Given the description of an element on the screen output the (x, y) to click on. 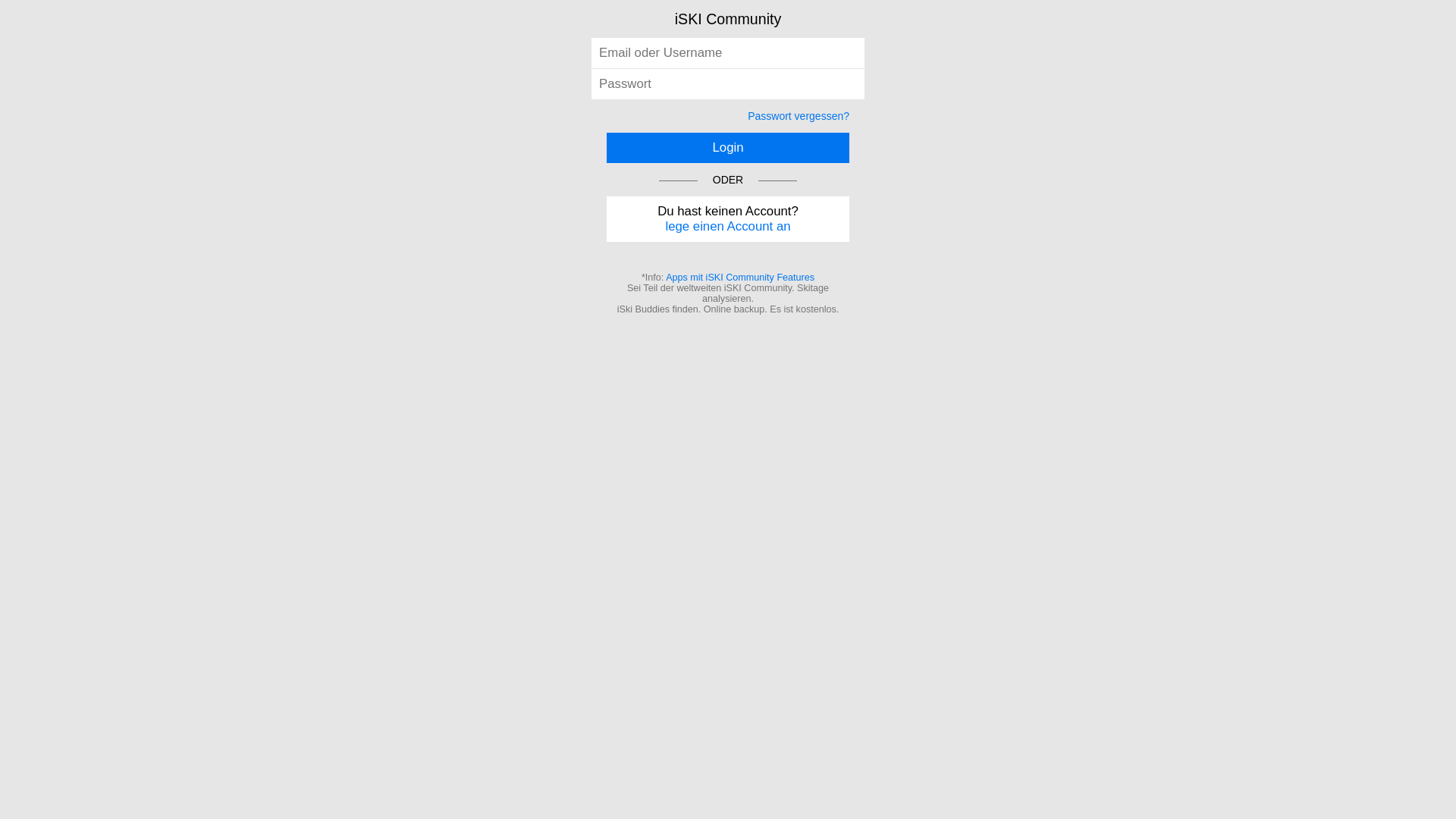
Passwort vergessen? Element type: text (798, 115)
Du hast keinen Account?
lege einen Account an Element type: text (727, 218)
Apps mit iSKI Community Features Element type: text (739, 277)
Login Element type: text (727, 147)
